Given the description of an element on the screen output the (x, y) to click on. 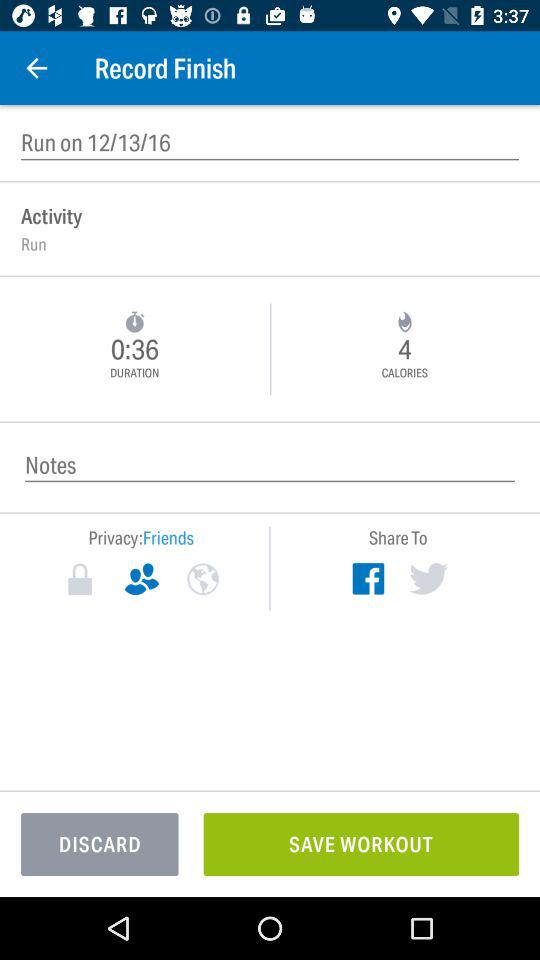
swipe until the discard icon (99, 844)
